Given the description of an element on the screen output the (x, y) to click on. 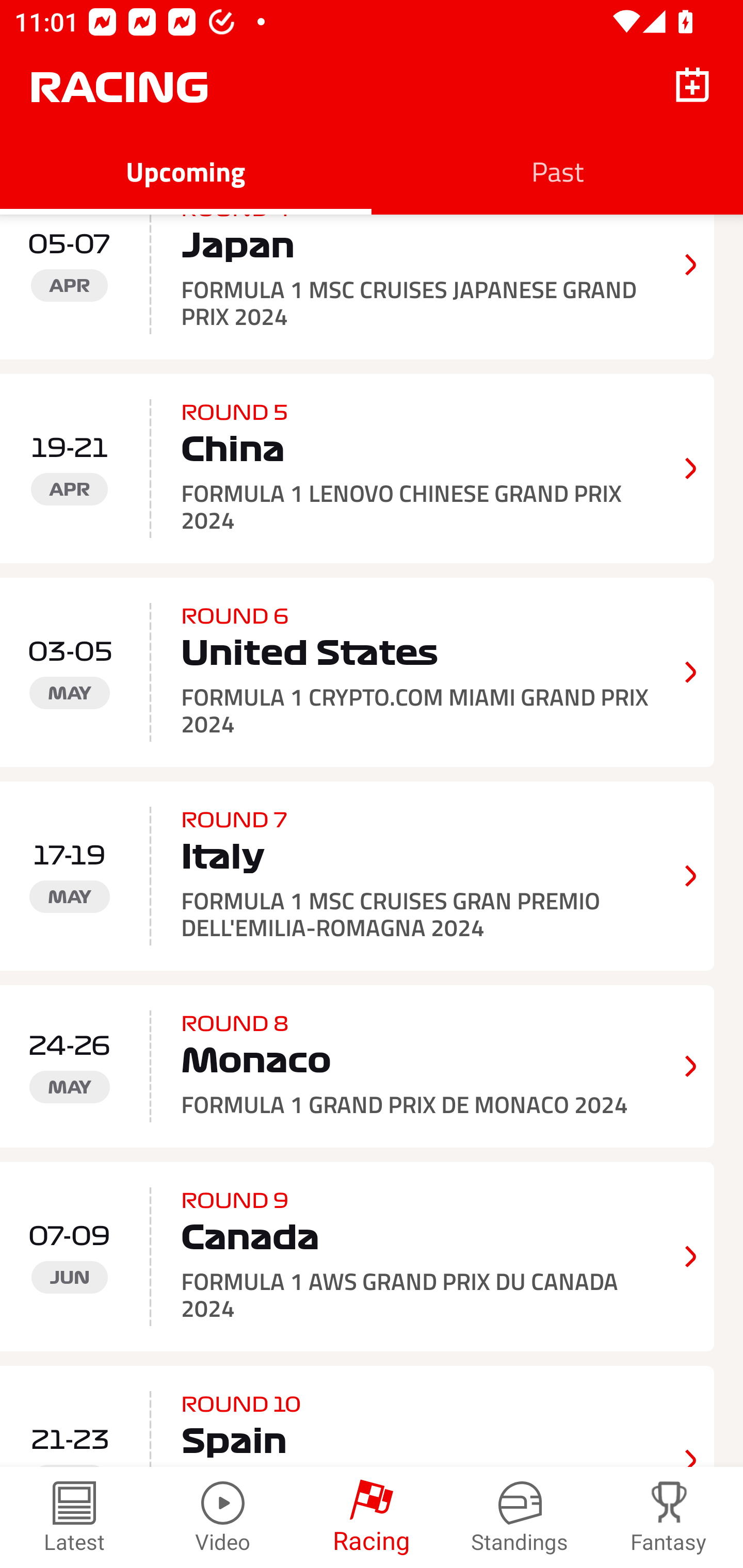
Past (557, 171)
Latest (74, 1517)
Video (222, 1517)
Standings (519, 1517)
Fantasy (668, 1517)
